Given the description of an element on the screen output the (x, y) to click on. 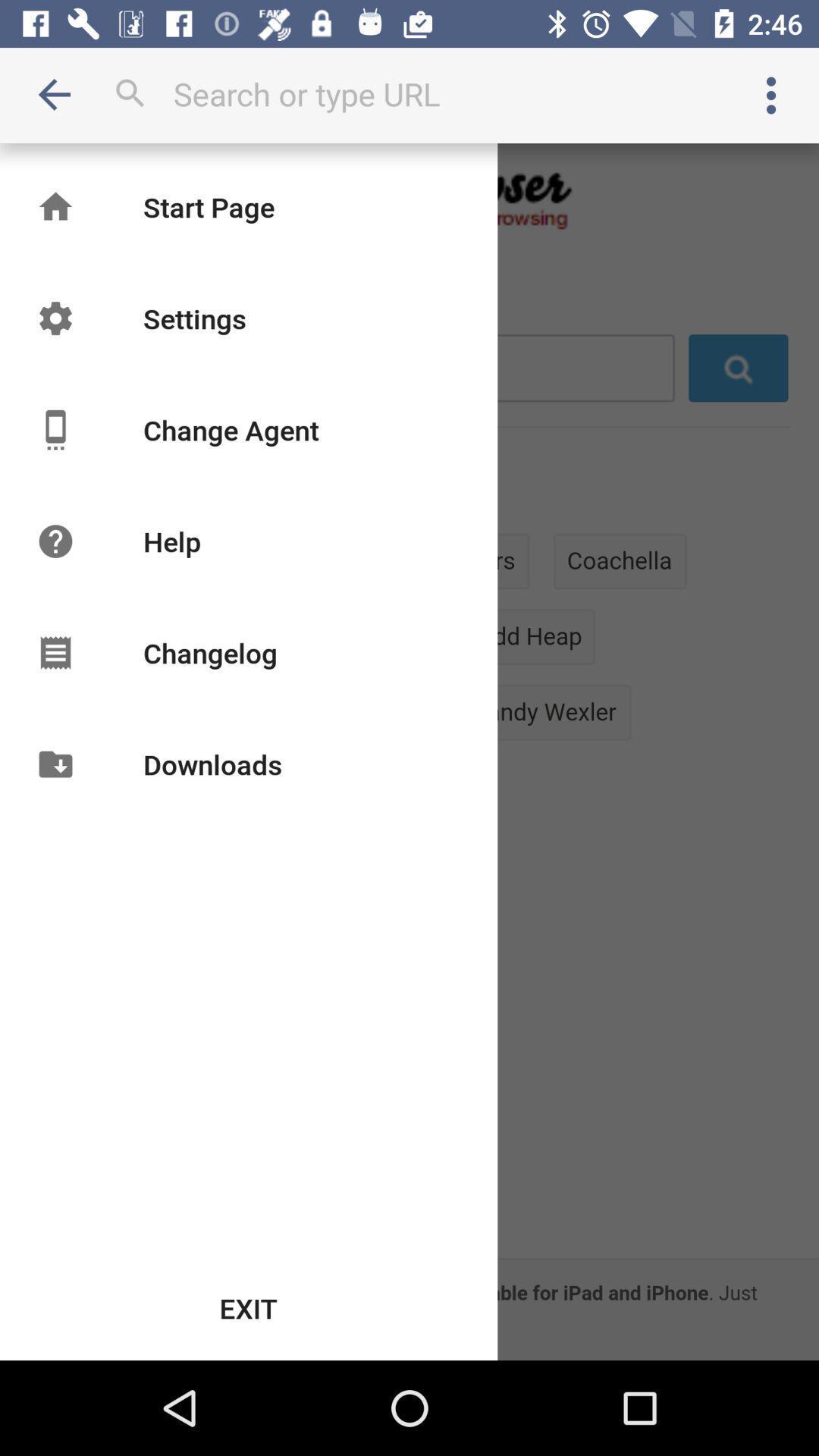
jump to the exit (248, 1308)
